Given the description of an element on the screen output the (x, y) to click on. 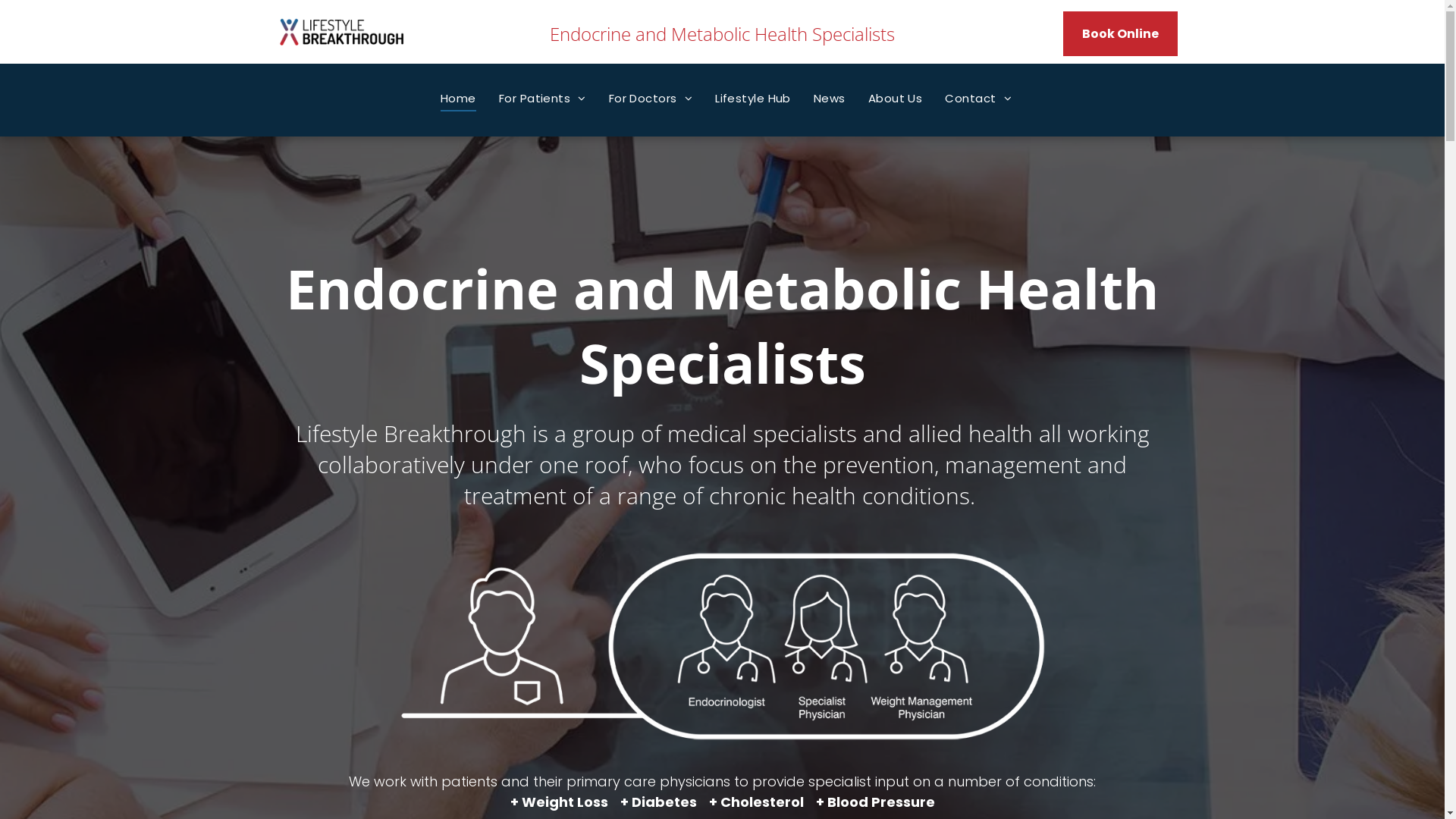
Blood Pressure Element type: text (880, 801)
News Element type: text (829, 98)
About Us Element type: text (895, 98)
Weight Loss Element type: text (564, 801)
Book Online Element type: text (1120, 33)
Endocrine and Metabolic Health Specialists Element type: text (721, 325)
For Patients Element type: text (542, 98)
Home Element type: text (458, 98)
Lifestyle Hub Element type: text (752, 98)
Contact Element type: text (977, 98)
Diabetes Element type: text (663, 801)
Cholesterol Element type: text (761, 801)
For Doctors Element type: text (650, 98)
